Given the description of an element on the screen output the (x, y) to click on. 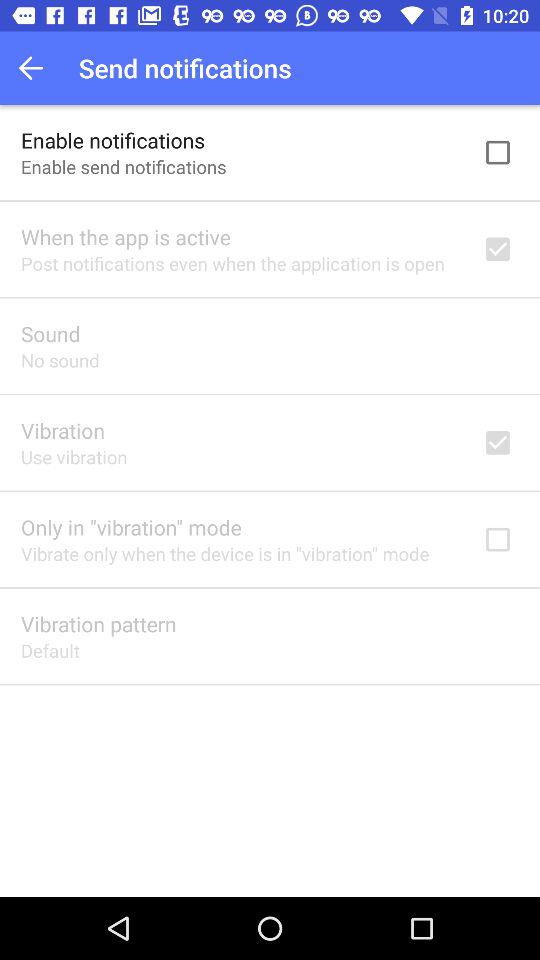
turn on item next to send notifications (36, 68)
